Given the description of an element on the screen output the (x, y) to click on. 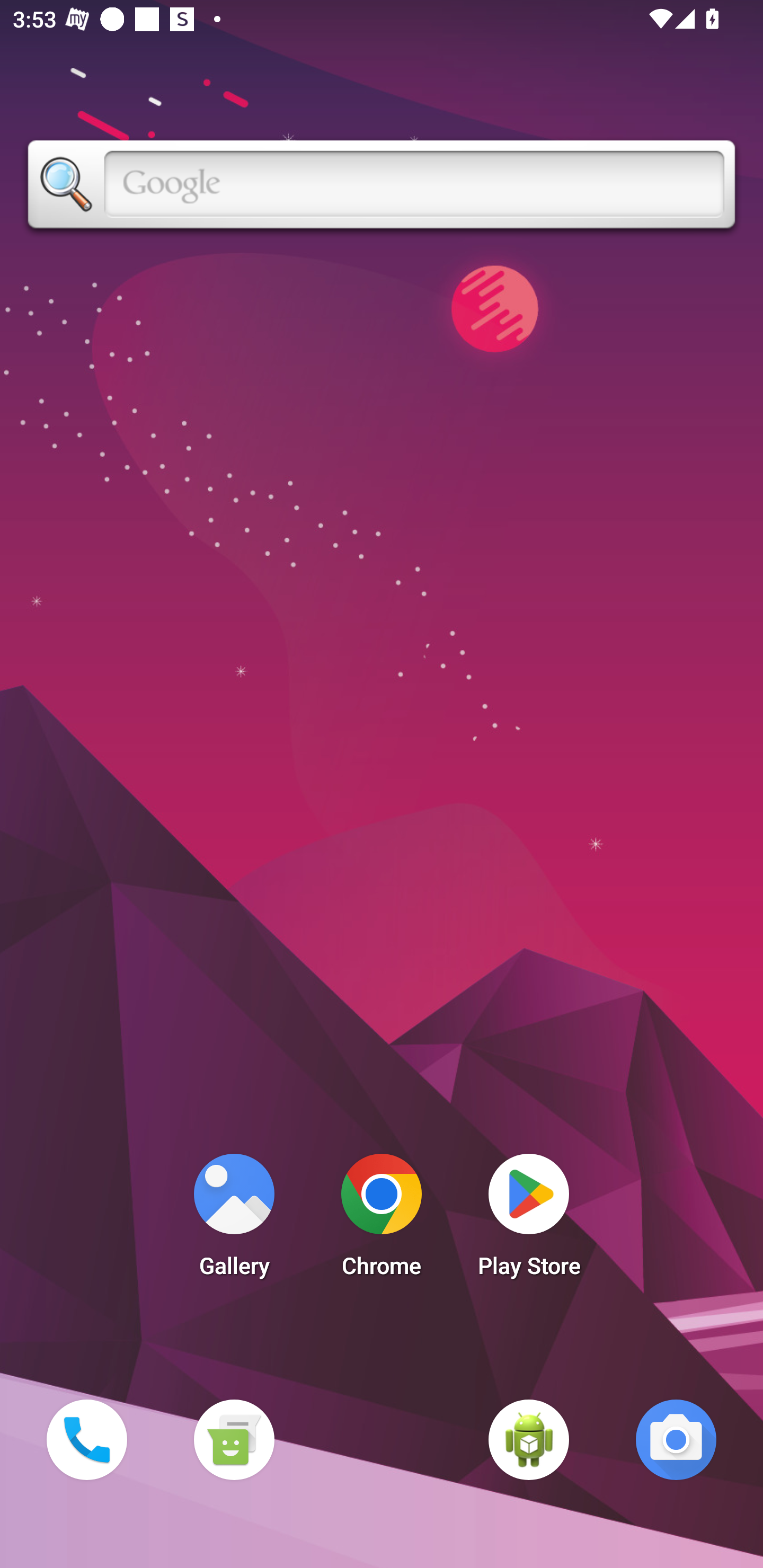
Gallery (233, 1220)
Chrome (381, 1220)
Play Store (528, 1220)
Phone (86, 1439)
Messaging (233, 1439)
WebView Browser Tester (528, 1439)
Camera (676, 1439)
